Given the description of an element on the screen output the (x, y) to click on. 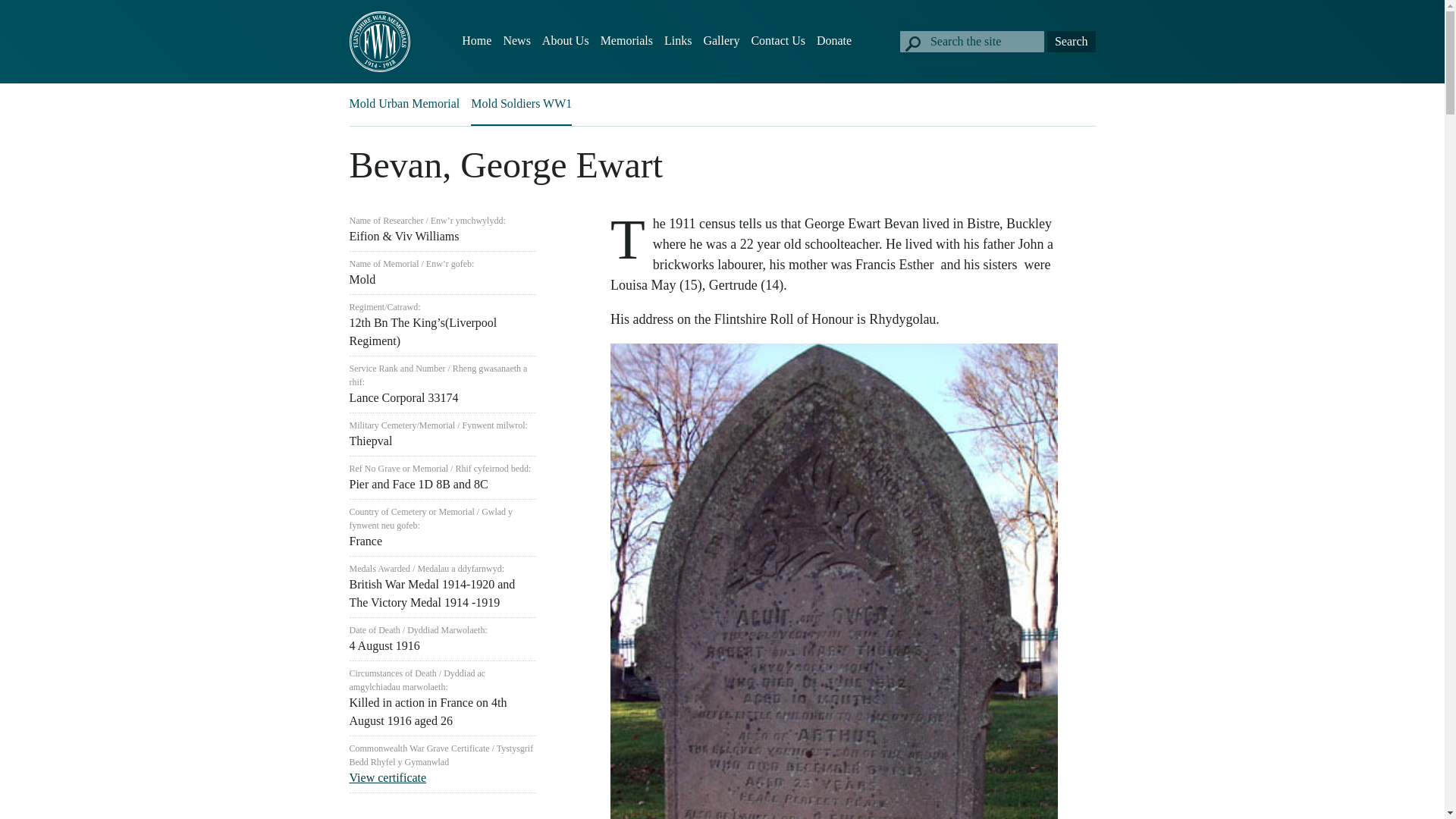
Gallery (721, 41)
Search (1071, 41)
View certificate (387, 777)
Donate (833, 41)
News (515, 41)
Links (677, 41)
Home (476, 41)
Contact Us (778, 41)
Mold Urban Memorial (404, 103)
About Us (565, 41)
Memorials (625, 41)
Mold Soldiers WW1 (521, 103)
